Given the description of an element on the screen output the (x, y) to click on. 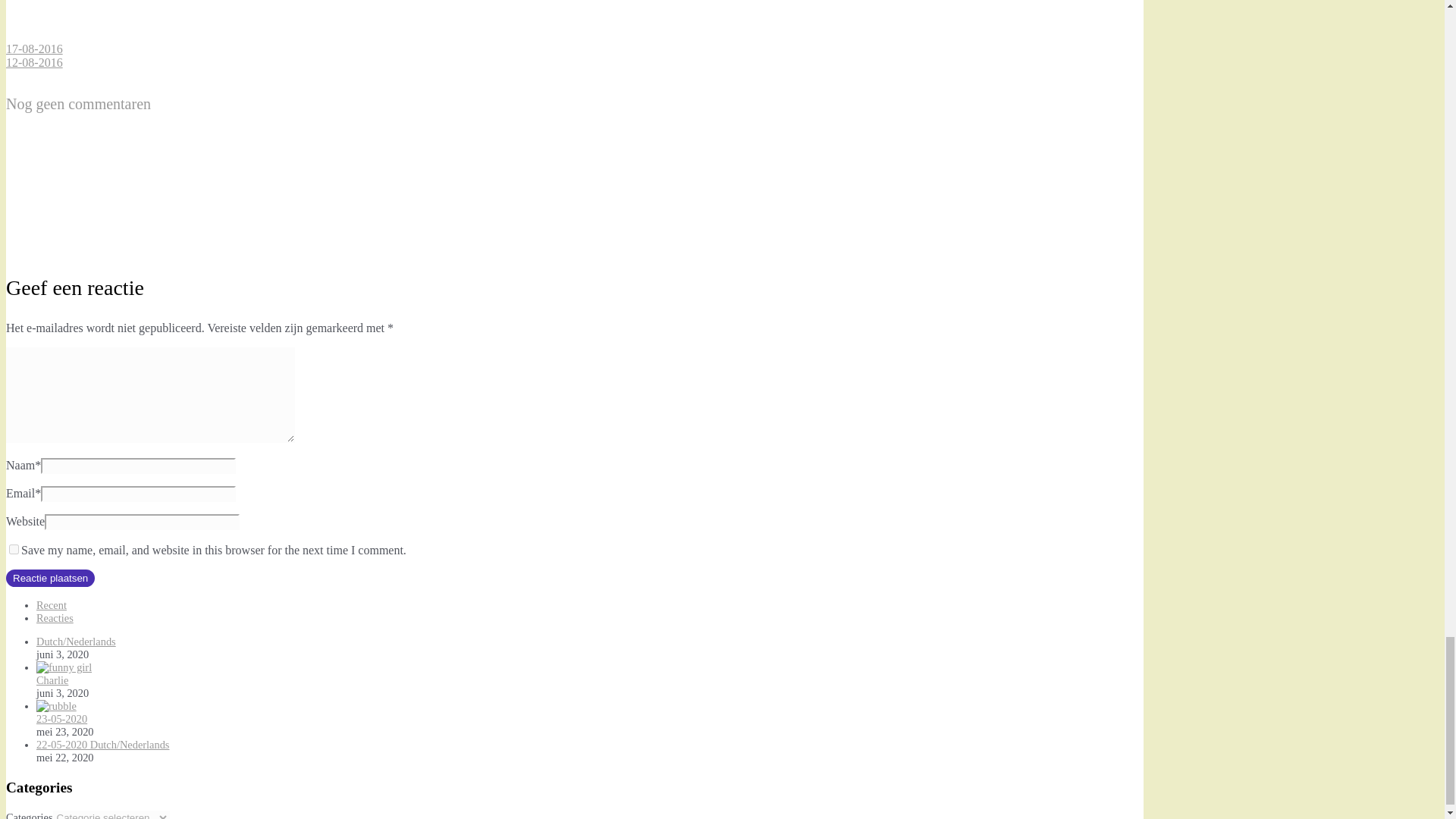
Reactie plaatsen (49, 578)
yes (13, 549)
Meer opties (118, 34)
Reacties volgen (118, 246)
